Given the description of an element on the screen output the (x, y) to click on. 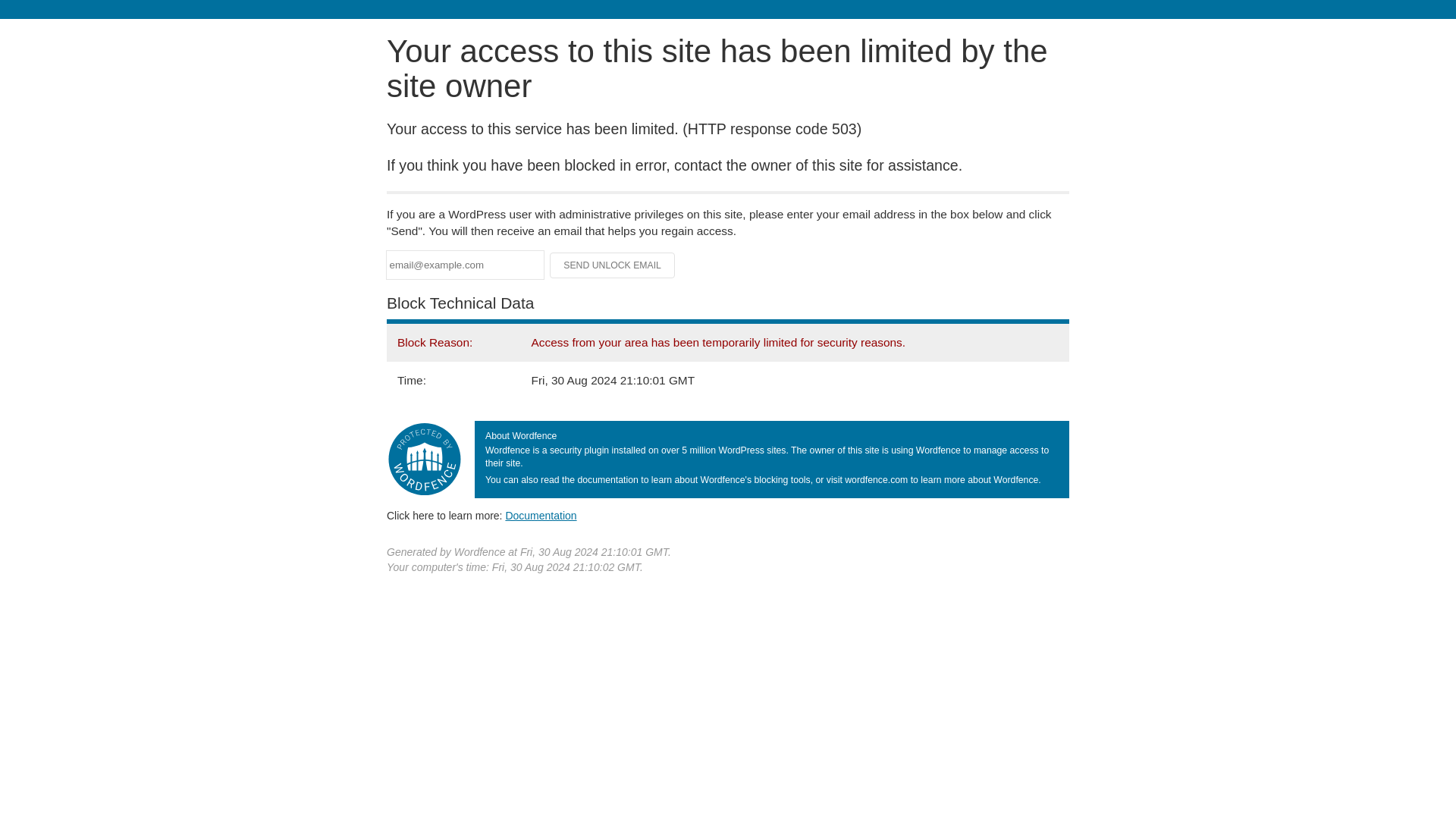
Send Unlock Email (612, 265)
Documentation (540, 515)
Send Unlock Email (612, 265)
